Given the description of an element on the screen output the (x, y) to click on. 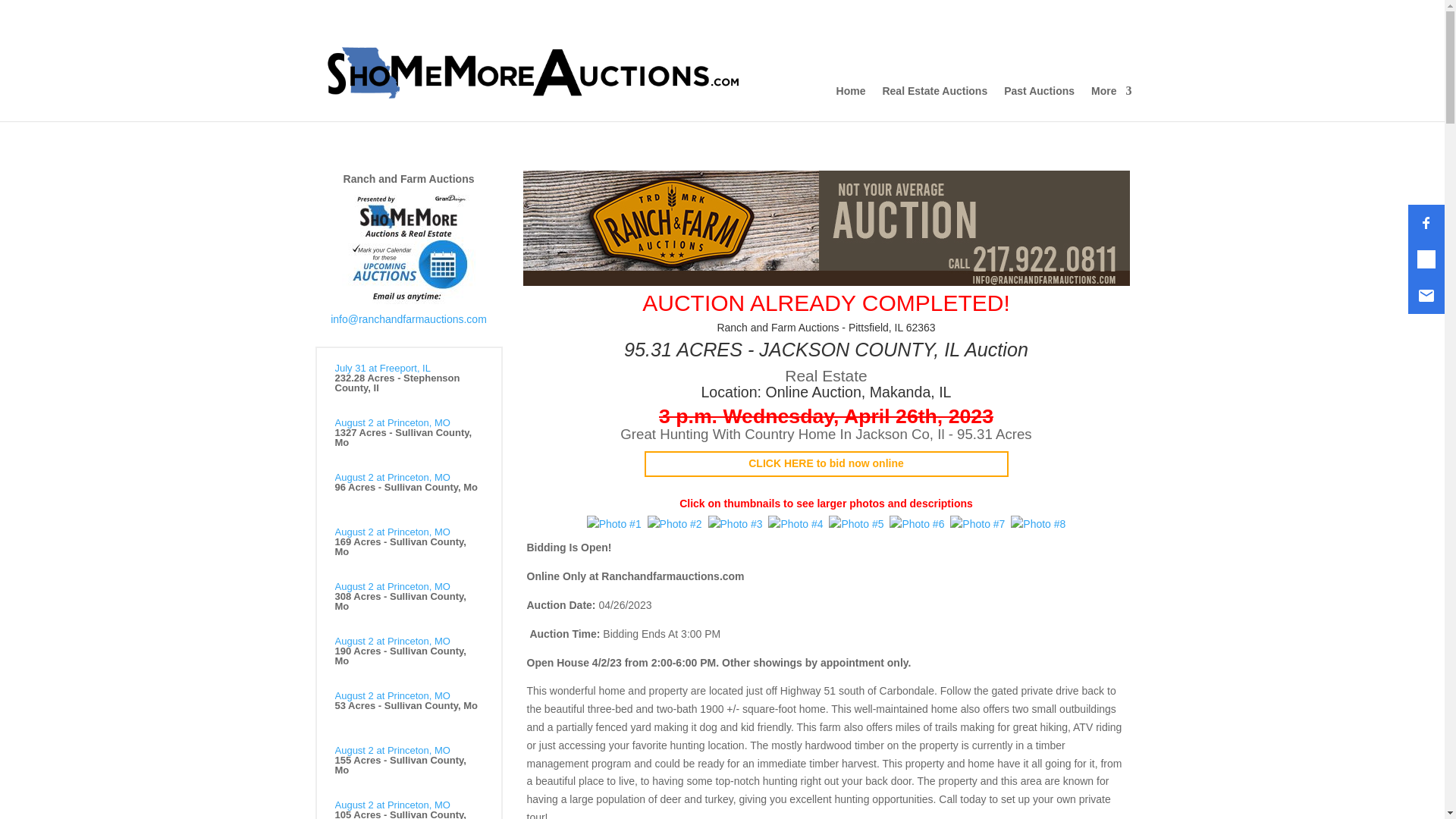
CLICK HERE to bid now online (826, 463)
July 31 at Freeport, IL (382, 367)
August 2 at Princeton, MO (391, 804)
August 2 at Princeton, MO (391, 749)
August 2 at Princeton, MO (391, 477)
More (1110, 103)
Click to Bid NOW (826, 463)
August 2 at Princeton, MO (391, 422)
Real Estate Auctions (934, 103)
August 2 at Princeton, MO (391, 586)
August 2 at Princeton, MO (391, 531)
August 2 at Princeton, MO (391, 641)
August 2 at Princeton, MO (391, 695)
Past Auctions (1039, 103)
